Given the description of an element on the screen output the (x, y) to click on. 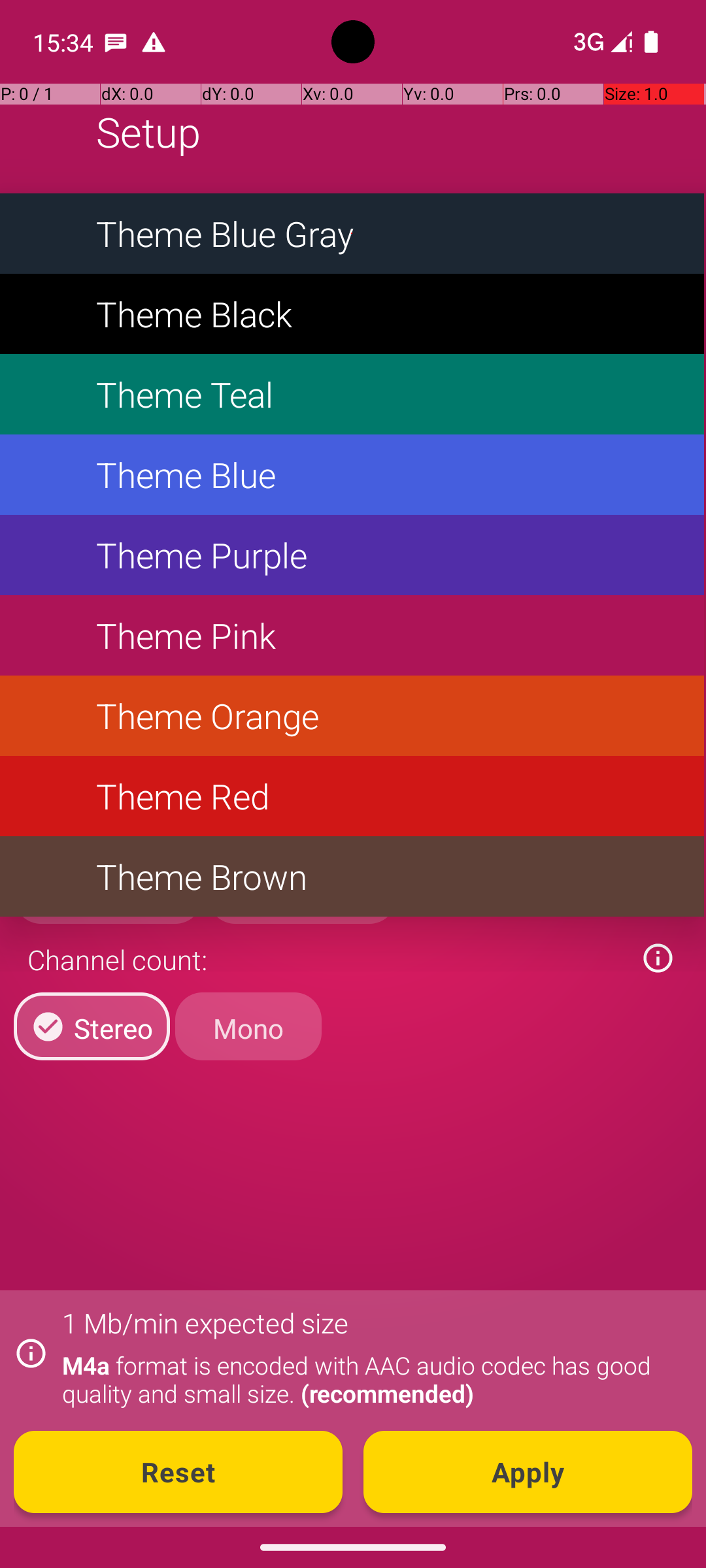
Theme Blue Gray Element type: android.widget.TextView (352, 233)
Theme Black Element type: android.widget.TextView (352, 313)
Theme Teal Element type: android.widget.TextView (352, 394)
Theme Blue Element type: android.widget.TextView (352, 474)
Theme Purple Element type: android.widget.TextView (352, 554)
Theme Pink Element type: android.widget.TextView (352, 635)
Theme Orange Element type: android.widget.TextView (352, 715)
Theme Red Element type: android.widget.TextView (352, 795)
Theme Brown Element type: android.widget.TextView (352, 876)
SMS Messenger notification:  Element type: android.widget.ImageView (115, 41)
Phone three bars. Element type: android.widget.FrameLayout (600, 41)
